Given the description of an element on the screen output the (x, y) to click on. 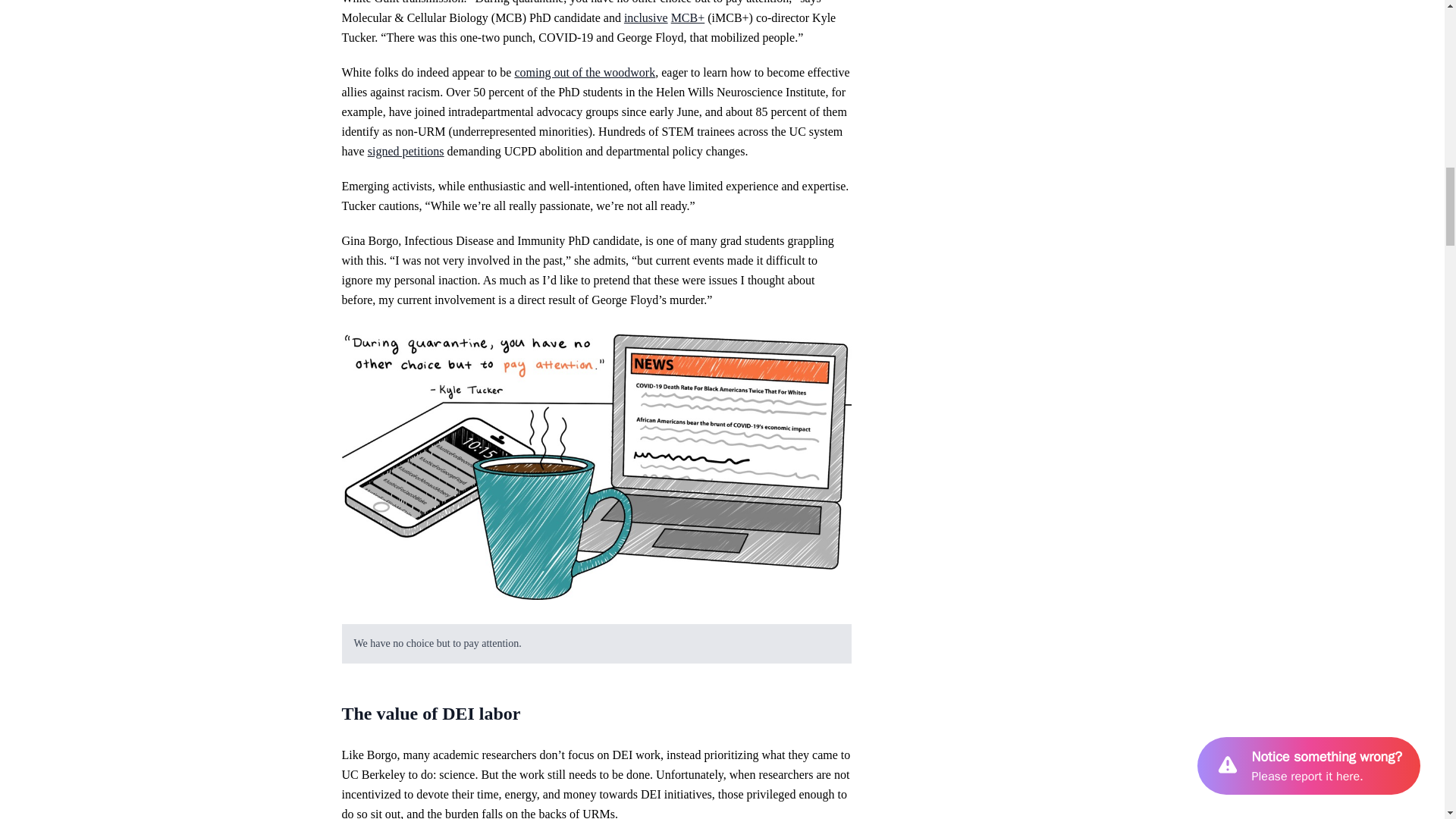
inclusive (646, 17)
signed petitions (406, 151)
coming out of the woodwork (584, 72)
